Given the description of an element on the screen output the (x, y) to click on. 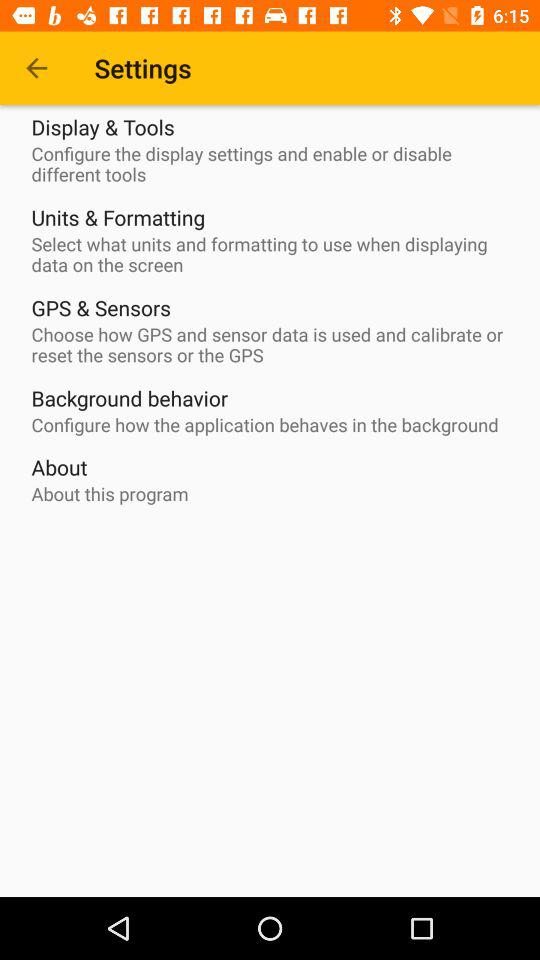
press about this program icon (109, 493)
